Given the description of an element on the screen output the (x, y) to click on. 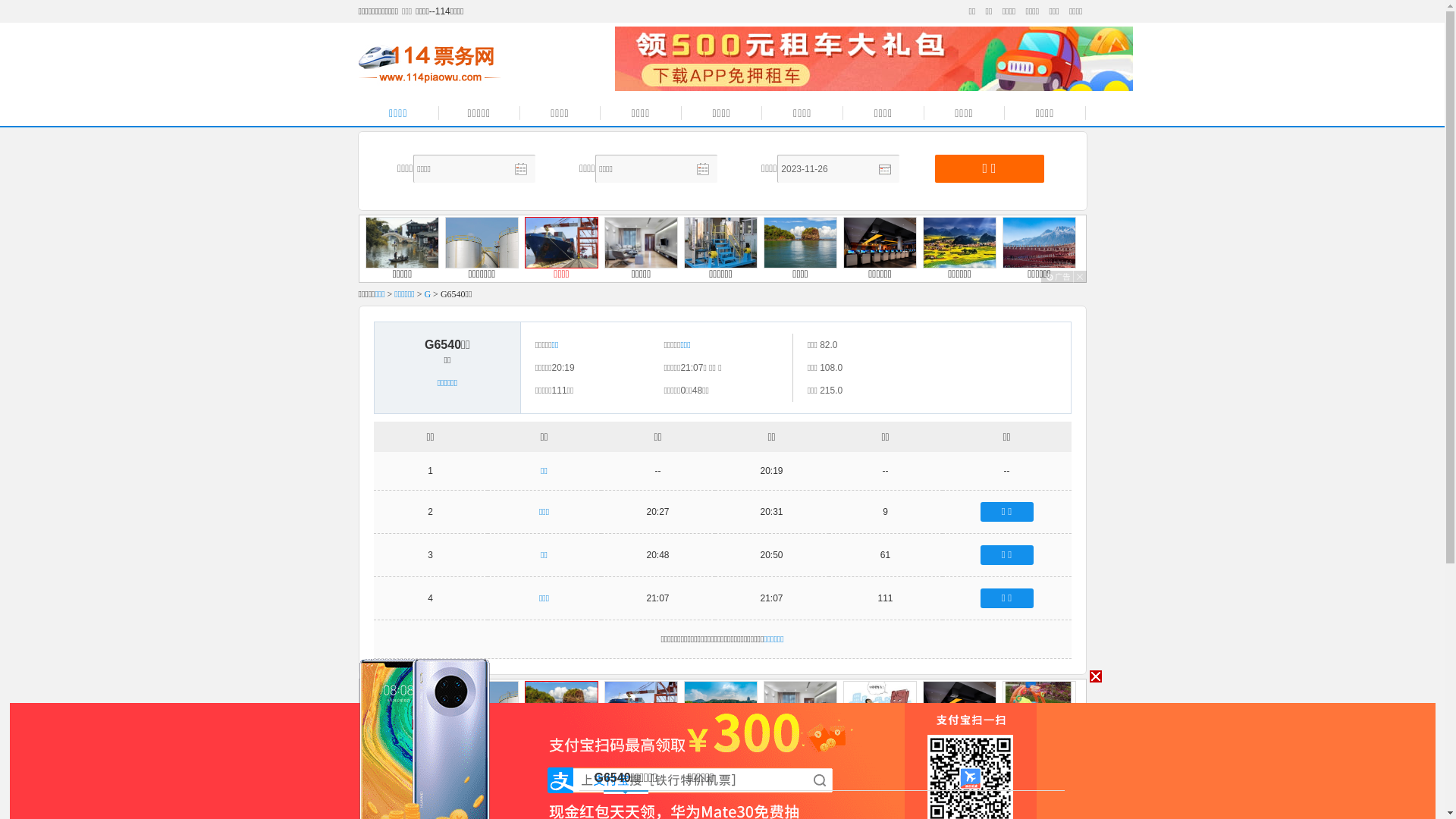
G Element type: text (426, 293)
